Given the description of an element on the screen output the (x, y) to click on. 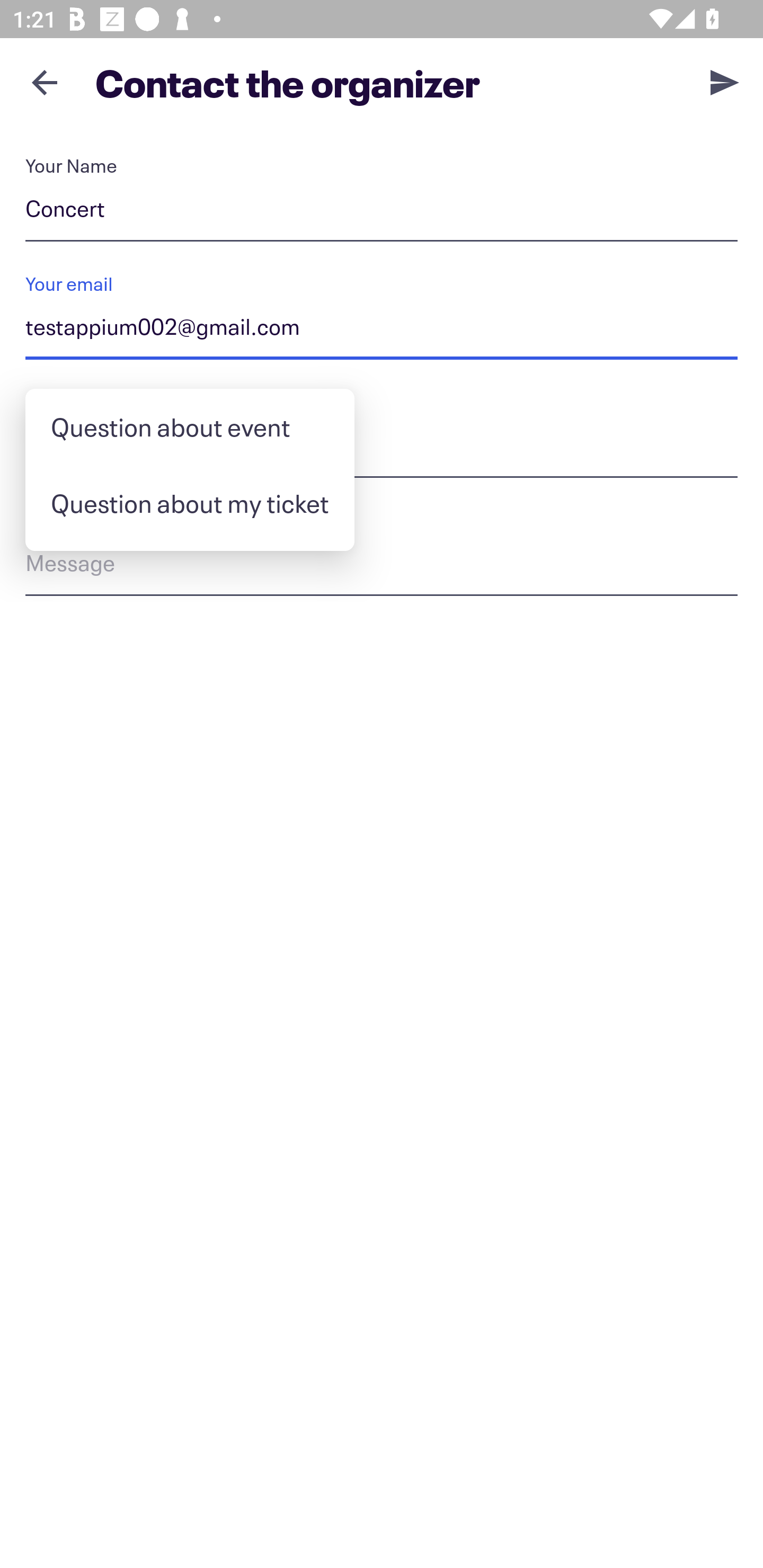
Question about event (189, 426)
Question about my ticket (189, 502)
